Given the description of an element on the screen output the (x, y) to click on. 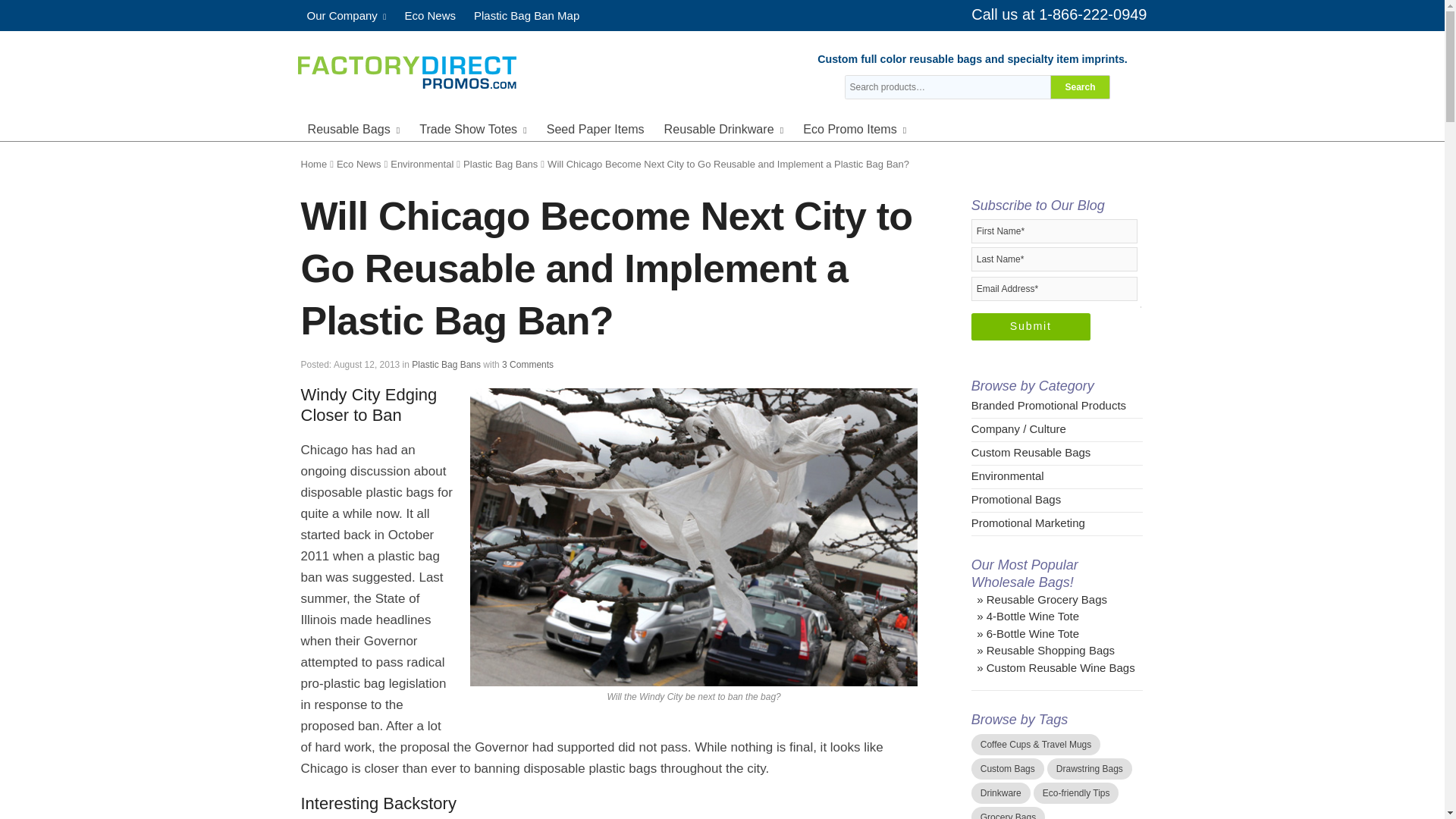
Reusable Bags (353, 127)
Eco News (429, 15)
Seed Paper Items (595, 127)
Submit (1030, 326)
Plastic Bag Ban Map (526, 15)
Reusable Drinkware (724, 127)
Environmental (421, 163)
Our Company (345, 15)
Home (312, 163)
Eco Promo Items (854, 127)
Eco News (358, 163)
Reusable Bags Wholesale - Factory Direct Promos (406, 70)
Search (1079, 87)
Trade Show Totes (472, 127)
